Given the description of an element on the screen output the (x, y) to click on. 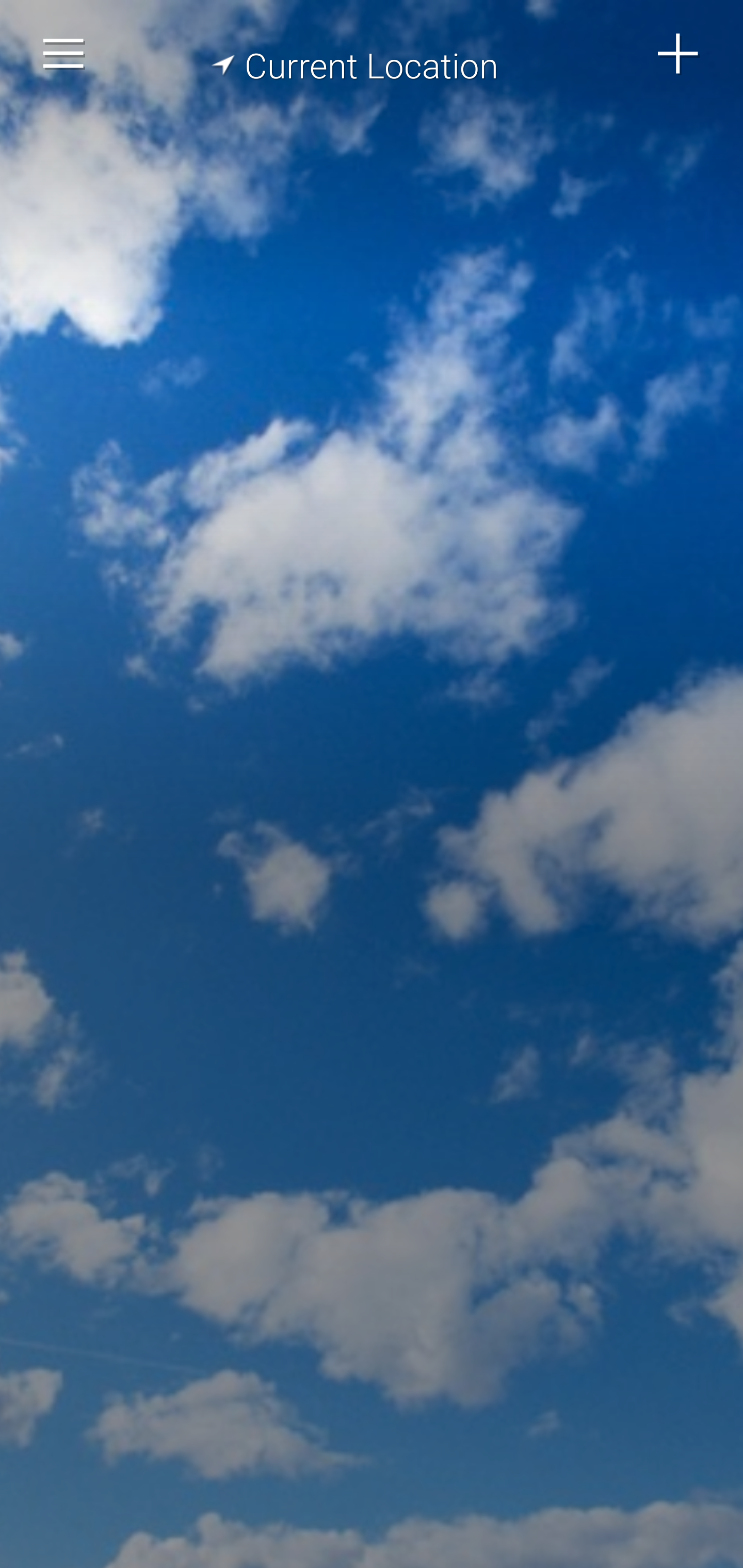
Sidebar (64, 54)
Add City (678, 53)
